Given the description of an element on the screen output the (x, y) to click on. 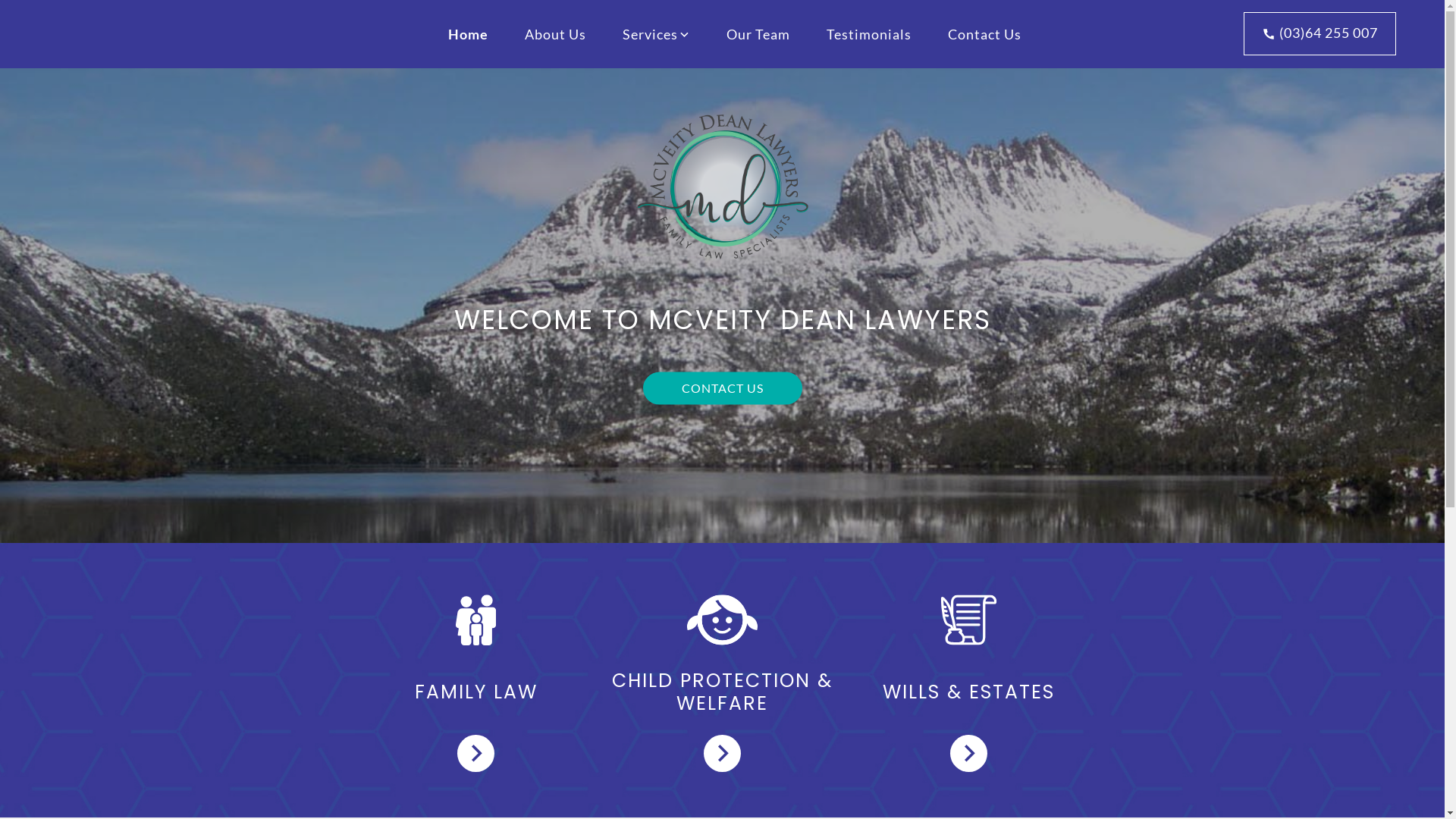
About Us Element type: text (555, 34)
FAMILY LAW Element type: text (475, 680)
Services Element type: text (655, 34)
Home Element type: text (467, 34)
Testimonials Element type: text (868, 34)
CHILD PROTECTION & WELFARE Element type: text (722, 680)
WILLS & ESTATES Element type: text (967, 680)
CONTACT US Element type: text (722, 387)
Our Team Element type: text (758, 34)
Contact Us Element type: text (984, 34)
(03)64 255 007 Element type: text (1319, 33)
